Given the description of an element on the screen output the (x, y) to click on. 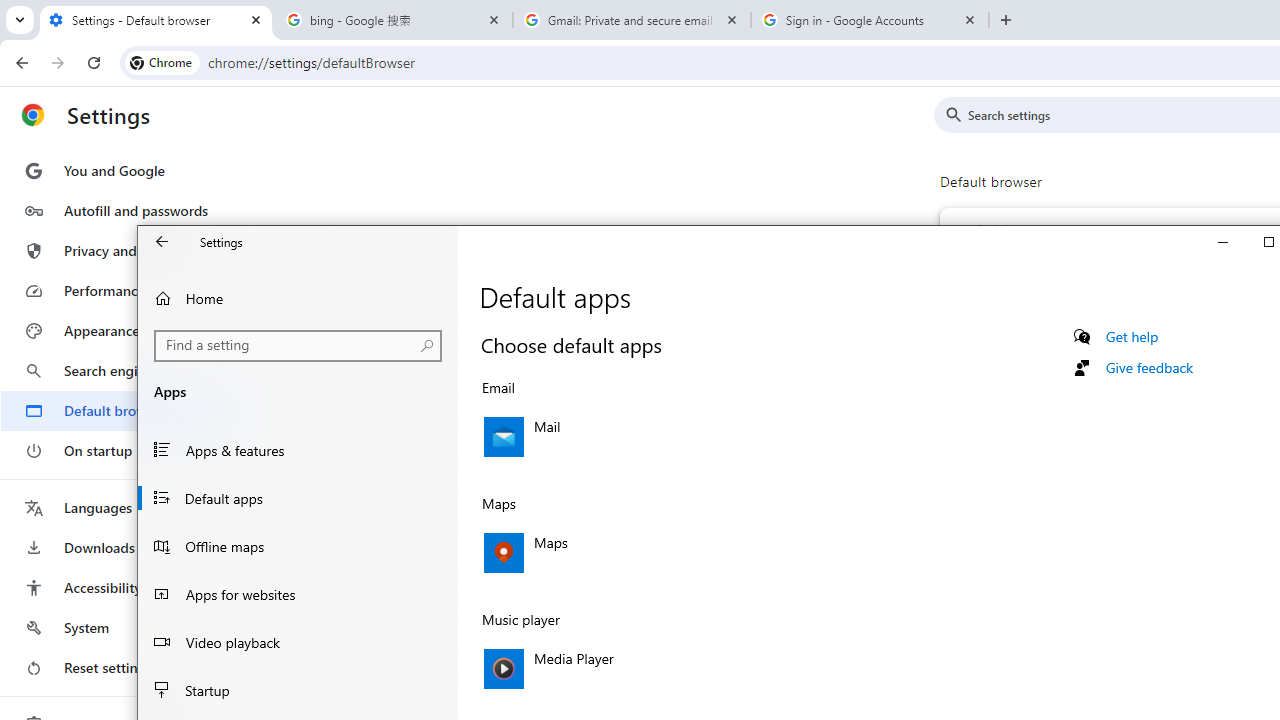
Minimize Settings (1222, 241)
Get help (1131, 336)
Music player, Media Player (691, 669)
You and Google (124, 170)
Sign in - Google Accounts (870, 20)
Settings - Default browser (156, 20)
Startup (298, 690)
Give feedback (1148, 367)
Email, Mail (691, 436)
Home (298, 297)
Default apps (298, 497)
